Given the description of an element on the screen output the (x, y) to click on. 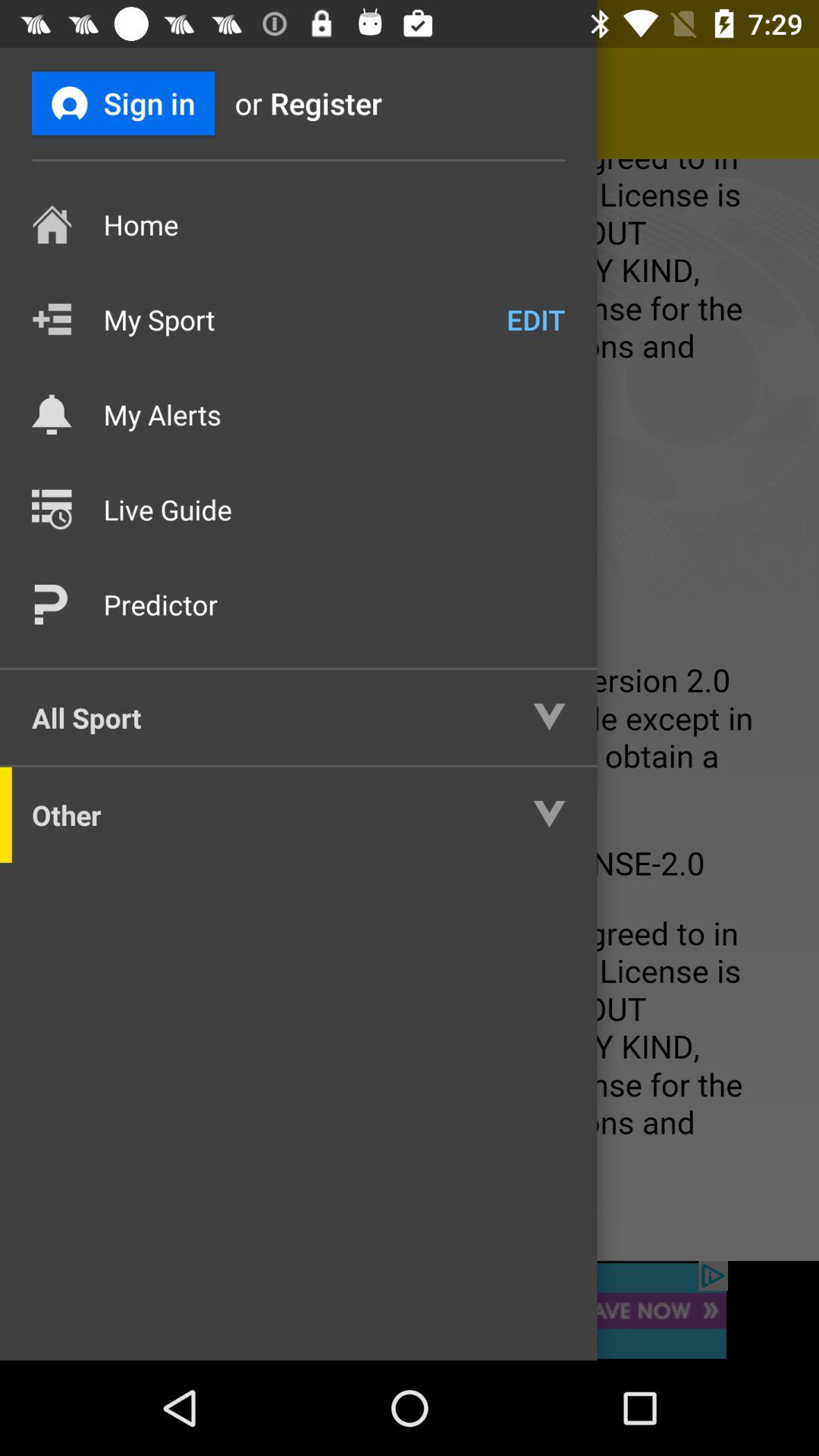
choose the item next to or (122, 103)
